Given the description of an element on the screen output the (x, y) to click on. 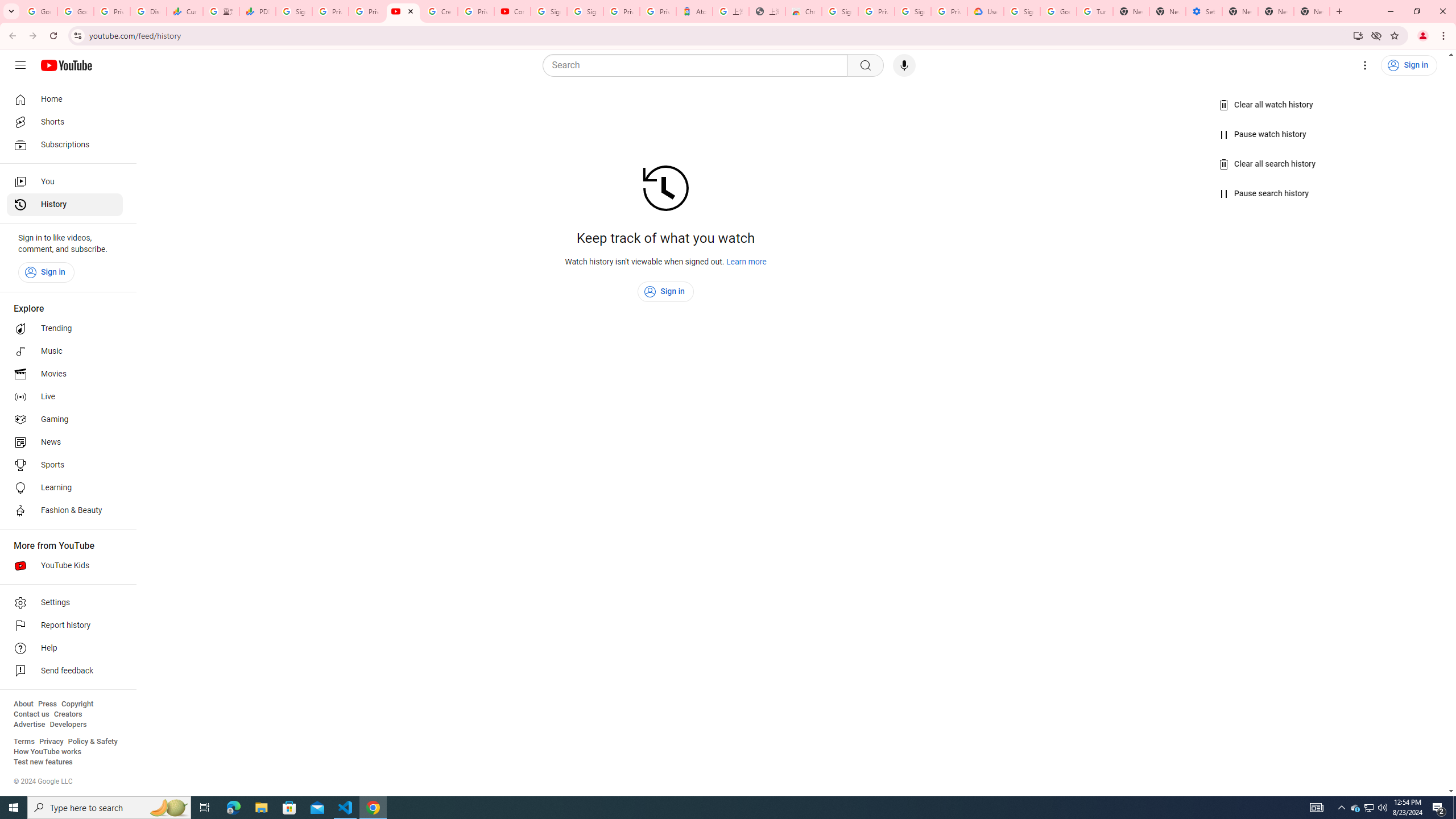
Clear all search history (1267, 163)
Live (64, 396)
PDD Holdings Inc - ADR (PDD) Price & News - Google Finance (257, 11)
